Given the description of an element on the screen output the (x, y) to click on. 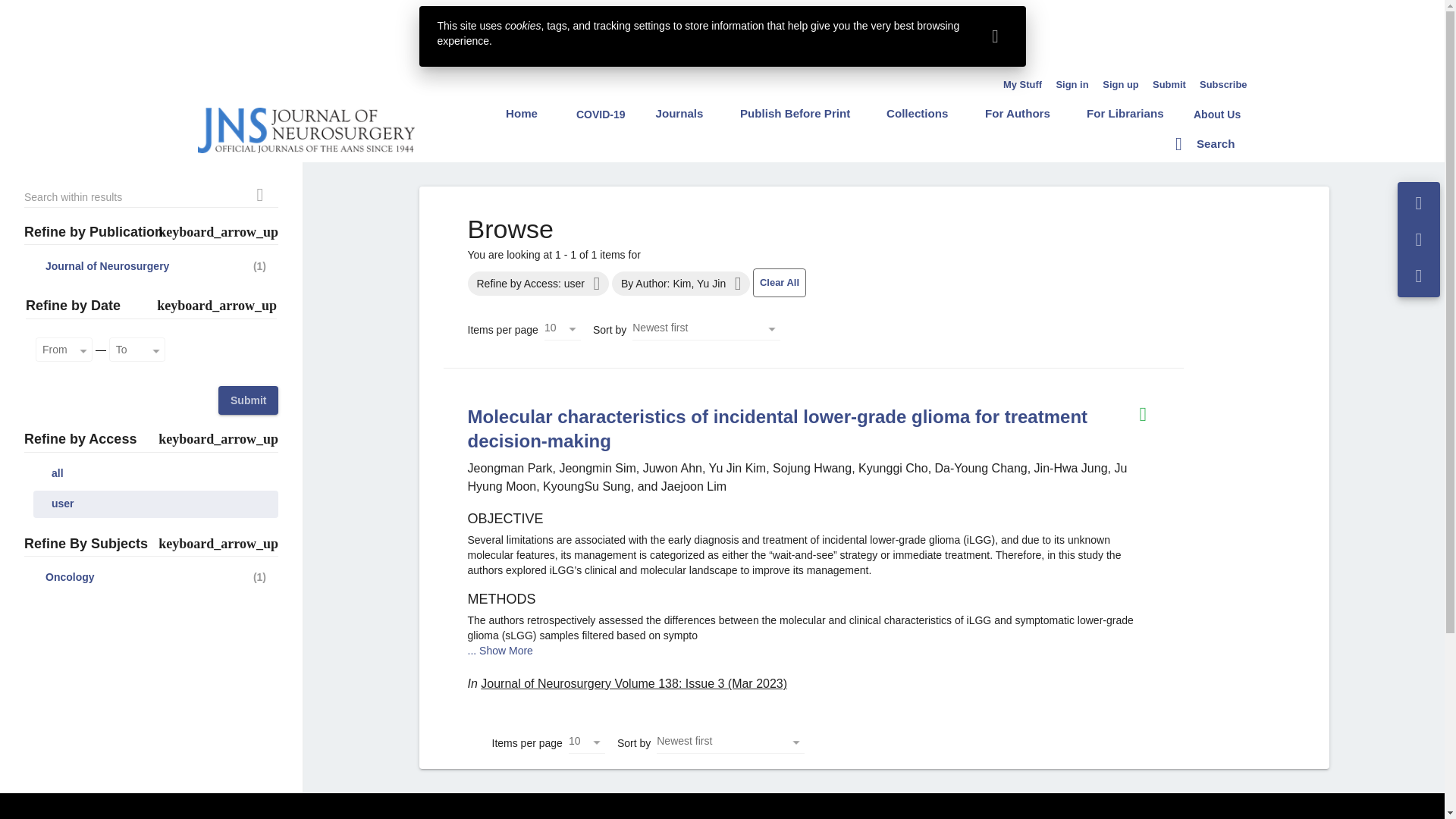
For Librarians (1125, 113)
Search (1204, 143)
Journals (679, 113)
3rd party ad content (722, 37)
Jump to Content (40, 8)
Subscribe (1223, 84)
Home (521, 113)
Publish Before Print (794, 113)
all (155, 473)
Publish Before Print (794, 113)
